Given the description of an element on the screen output the (x, y) to click on. 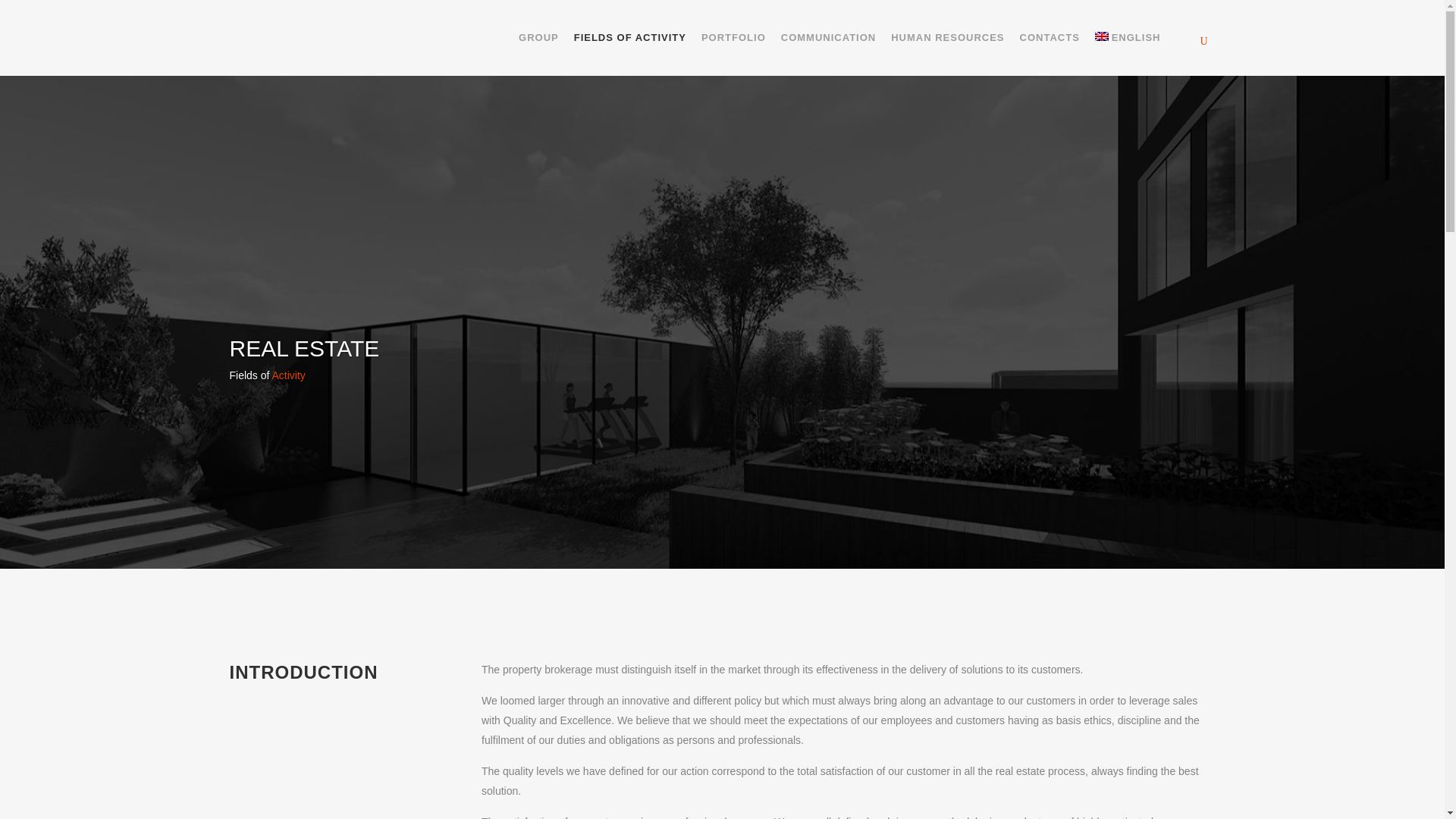
English (1128, 38)
ENGLISH (1128, 38)
HUMAN RESOURCES (947, 38)
CONTACTS (1049, 38)
PORTFOLIO (733, 38)
COMMUNICATION (828, 38)
FIELDS OF ACTIVITY (630, 38)
